Given the description of an element on the screen output the (x, y) to click on. 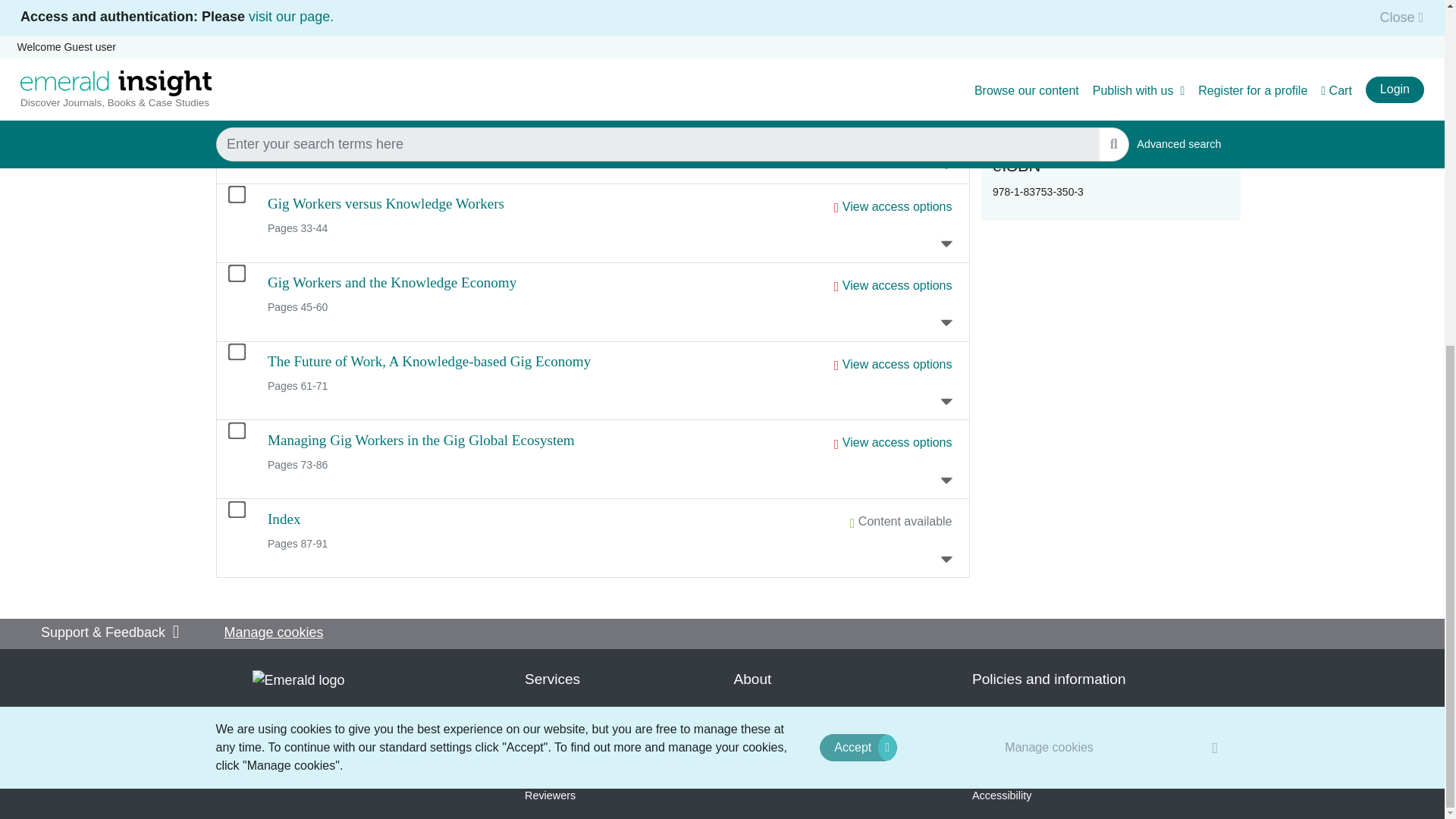
Go to page for Introduction. (303, 46)
View access options for Introduction. (897, 48)
Accept (857, 154)
Manage cookies (1049, 155)
